Given the description of an element on the screen output the (x, y) to click on. 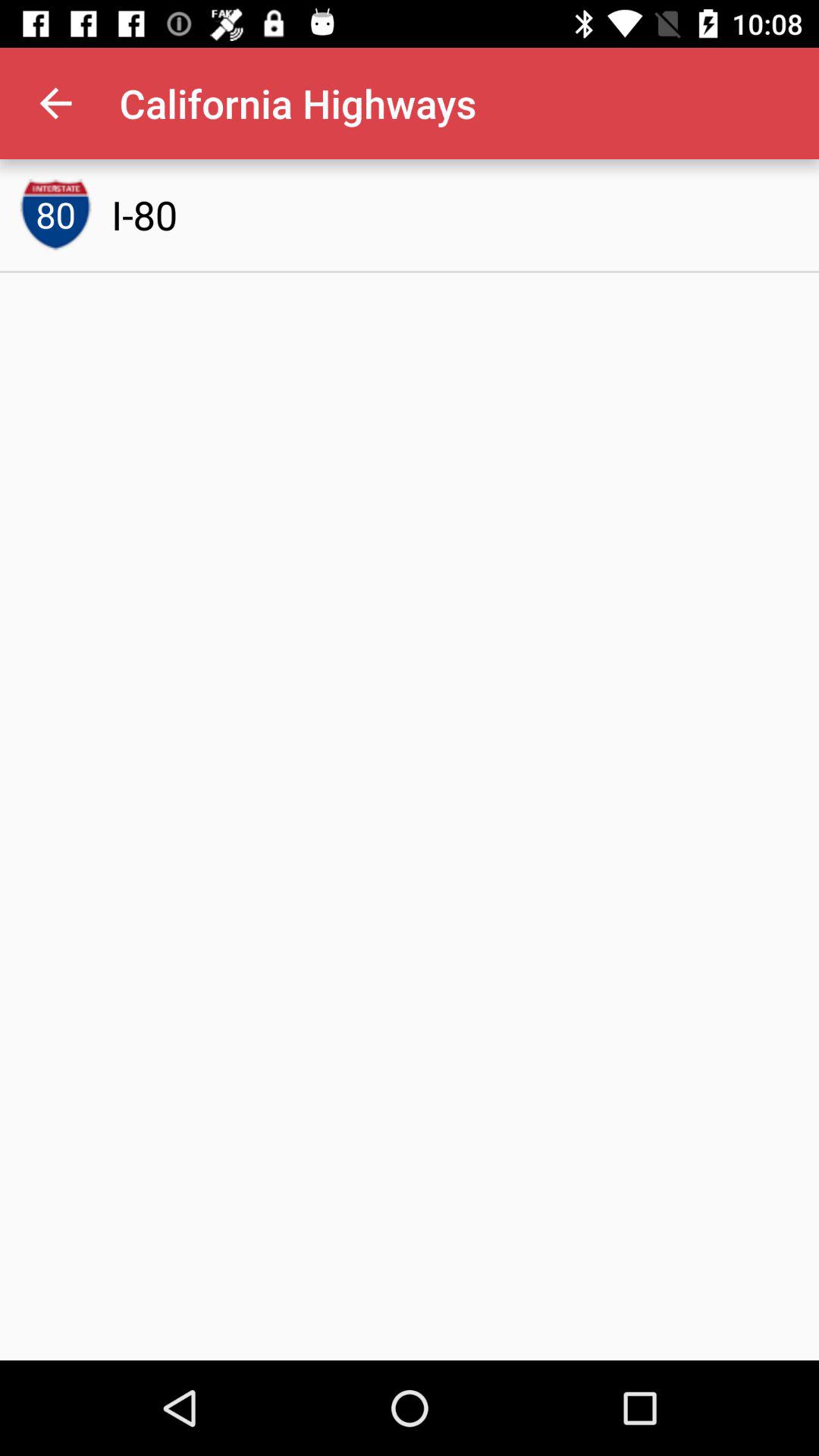
select icon to the left of i-80 (55, 214)
